Given the description of an element on the screen output the (x, y) to click on. 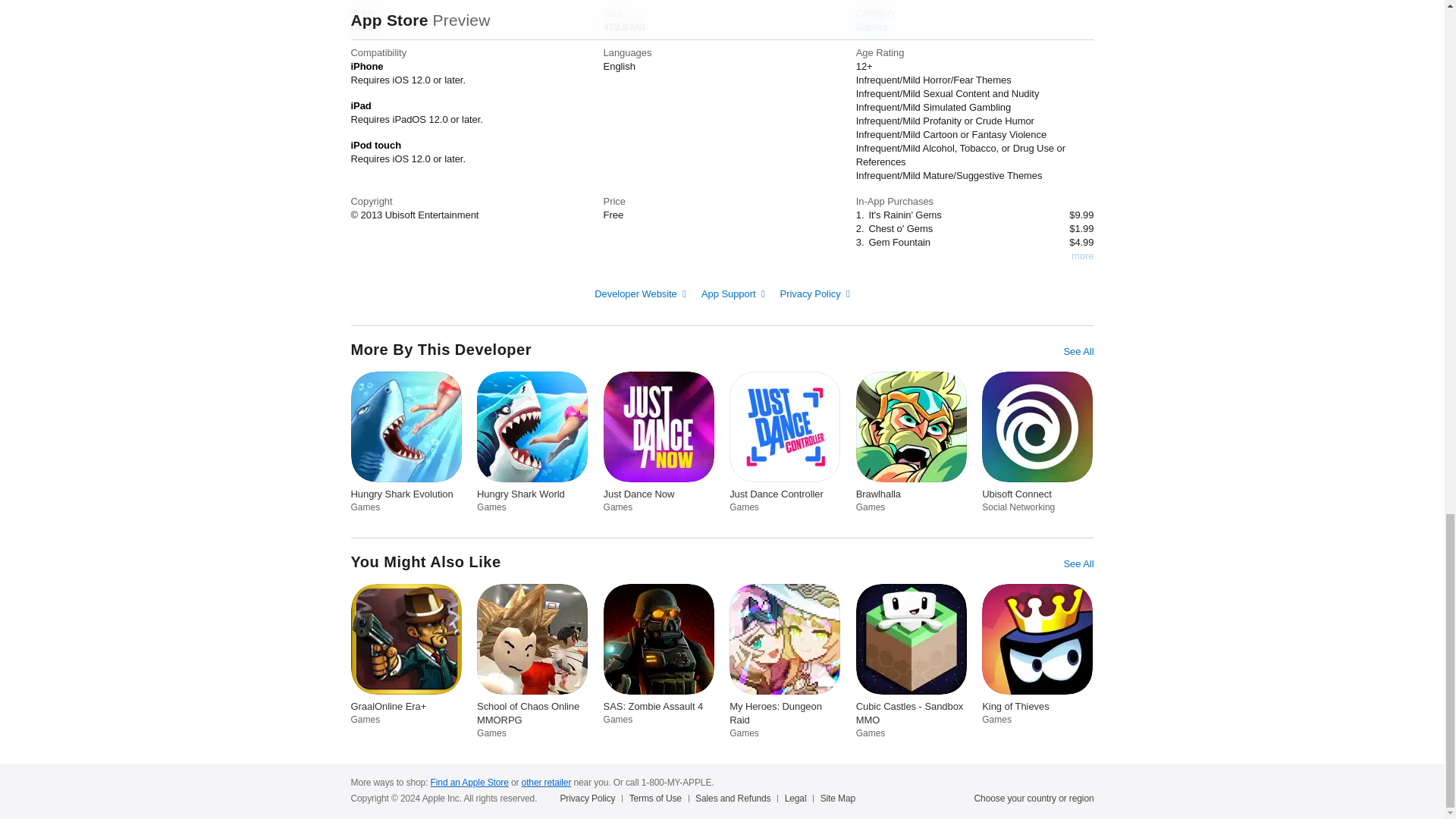
Developer Website (639, 293)
App Support (733, 293)
Choose your country or region (1034, 798)
more (1082, 255)
Games (872, 26)
